Given the description of an element on the screen output the (x, y) to click on. 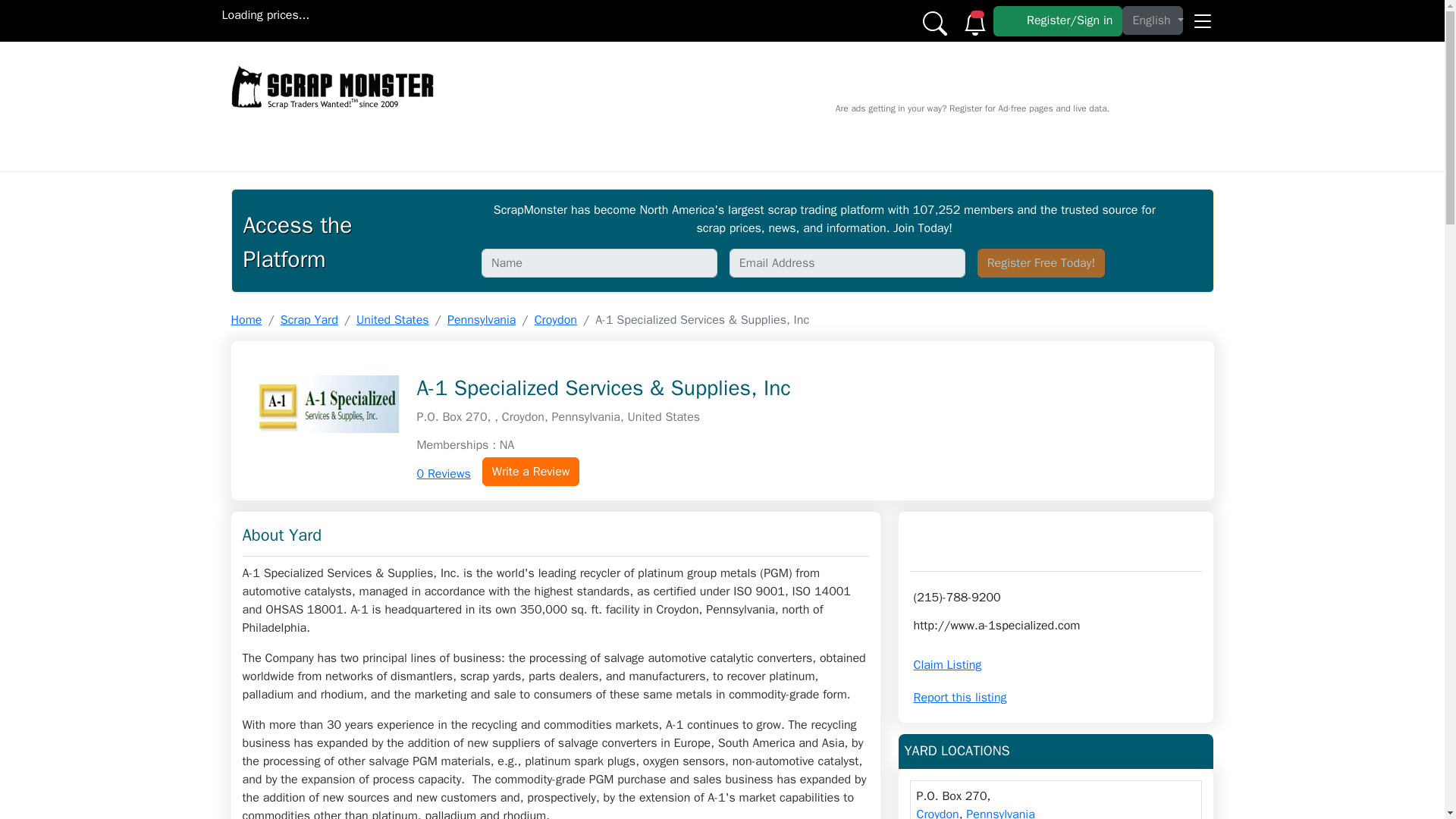
HOME (269, 147)
Open Menu (1201, 15)
Get an instant offer on your damaged car (602, 65)
SCRAP METAL PRICES (382, 147)
Open Menu (1201, 15)
Yard Finder (967, 147)
English (1152, 20)
NEWS (491, 147)
STEEL PRICES (673, 147)
